Given the description of an element on the screen output the (x, y) to click on. 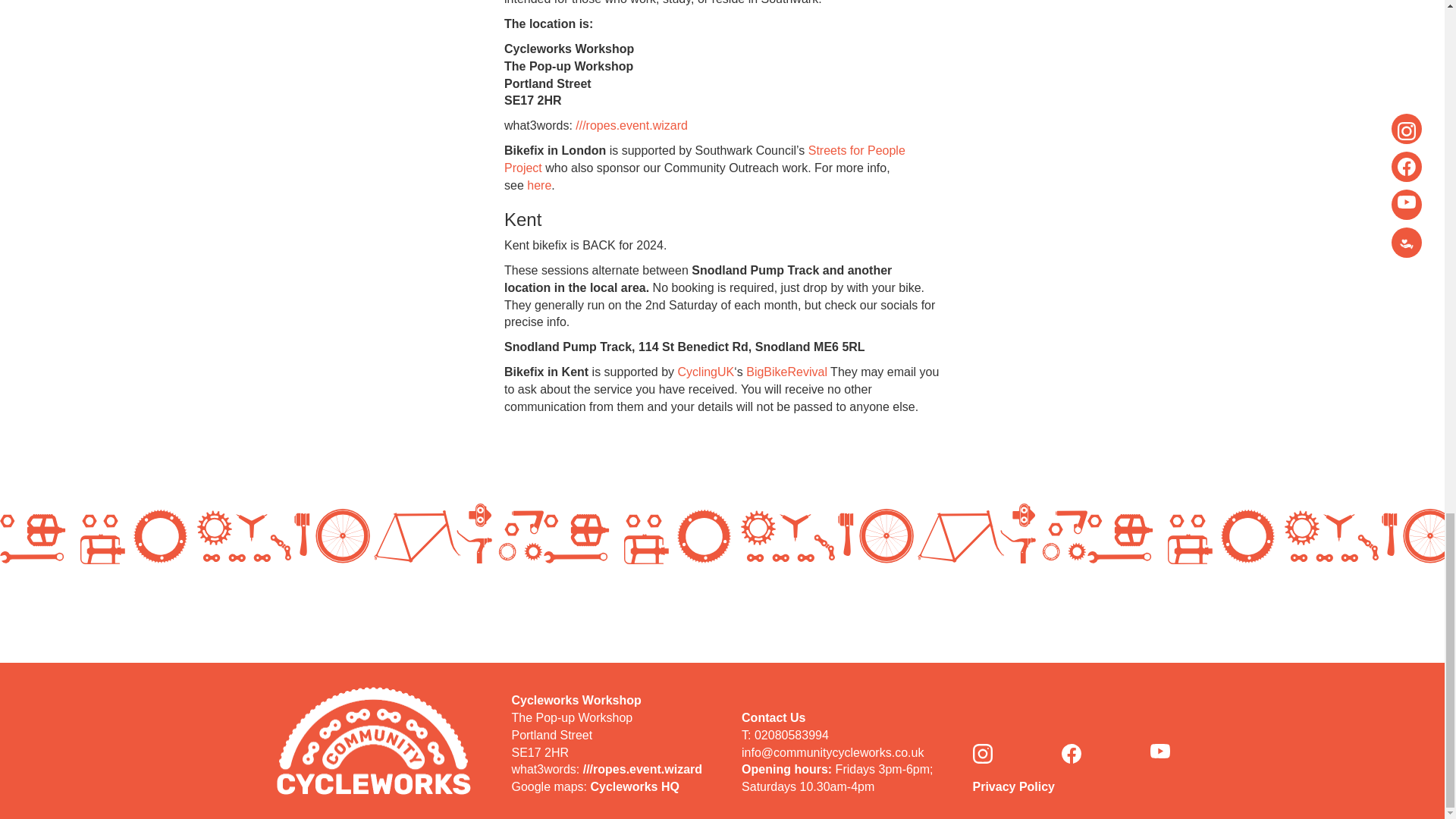
here (539, 185)
Privacy Policy (1013, 786)
Streets for People Project (704, 159)
CyclingUK (706, 371)
BigBikeRevival (786, 371)
Contact Us (773, 717)
Cycleworks HQ (635, 786)
